Given the description of an element on the screen output the (x, y) to click on. 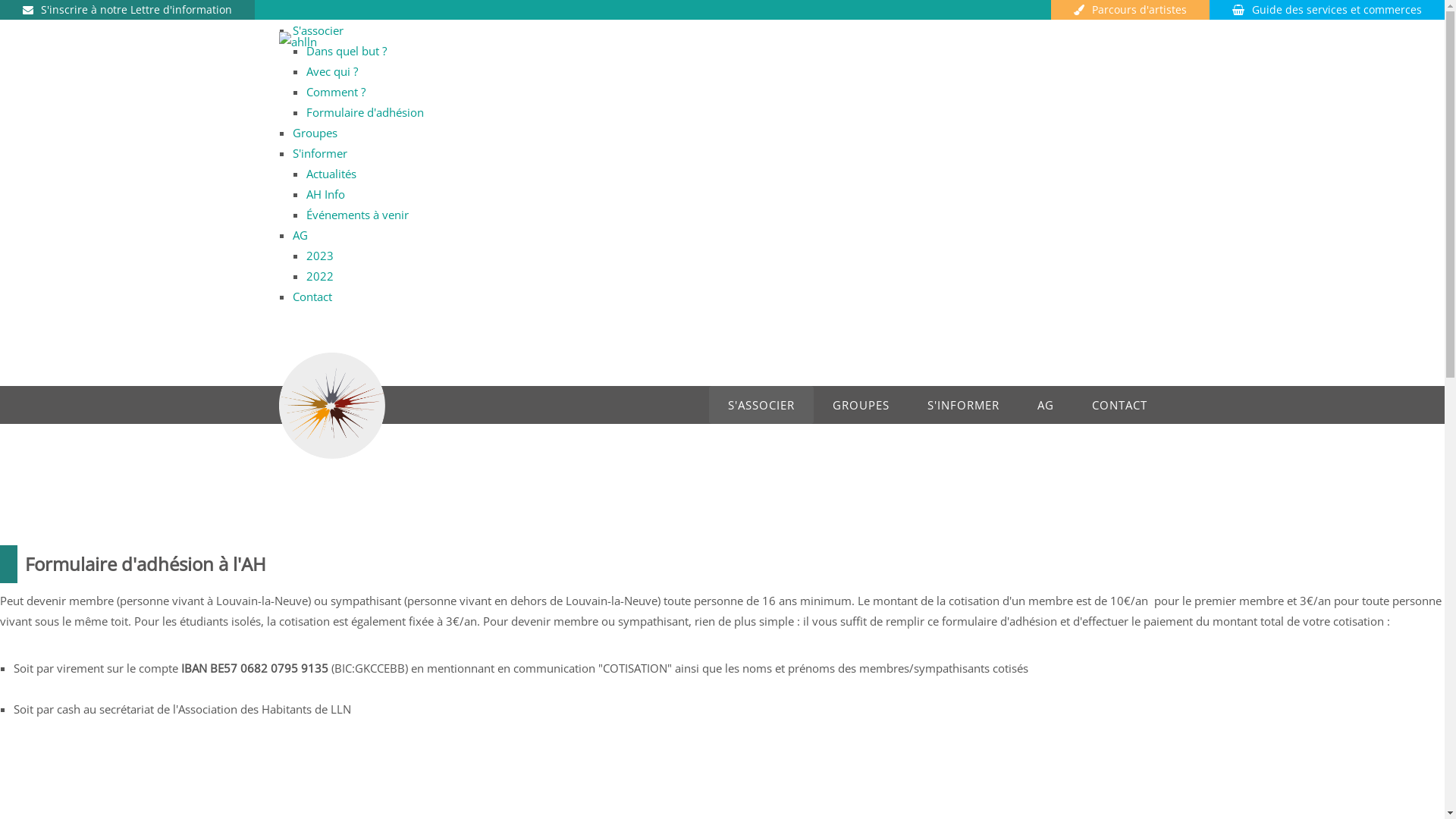
S'associer Element type: text (317, 29)
Avec qui ? Element type: text (331, 70)
CONTACT Element type: text (1118, 404)
X Element type: text (282, 9)
GROUPES Element type: text (859, 404)
Dans quel but ? Element type: text (346, 50)
2022 Element type: text (319, 275)
Groupes Element type: text (314, 132)
Contact Element type: text (312, 296)
S'ASSOCIER Element type: text (760, 404)
Parcours d'artistes Element type: text (1129, 9)
AG Element type: text (1044, 404)
AH Info Element type: text (325, 193)
Guide des services et commerces Element type: text (1326, 9)
S'informer Element type: text (319, 152)
S'INFORMER Element type: text (963, 404)
AG Element type: text (299, 234)
2023 Element type: text (319, 255)
Comment ? Element type: text (335, 91)
